Given the description of an element on the screen output the (x, y) to click on. 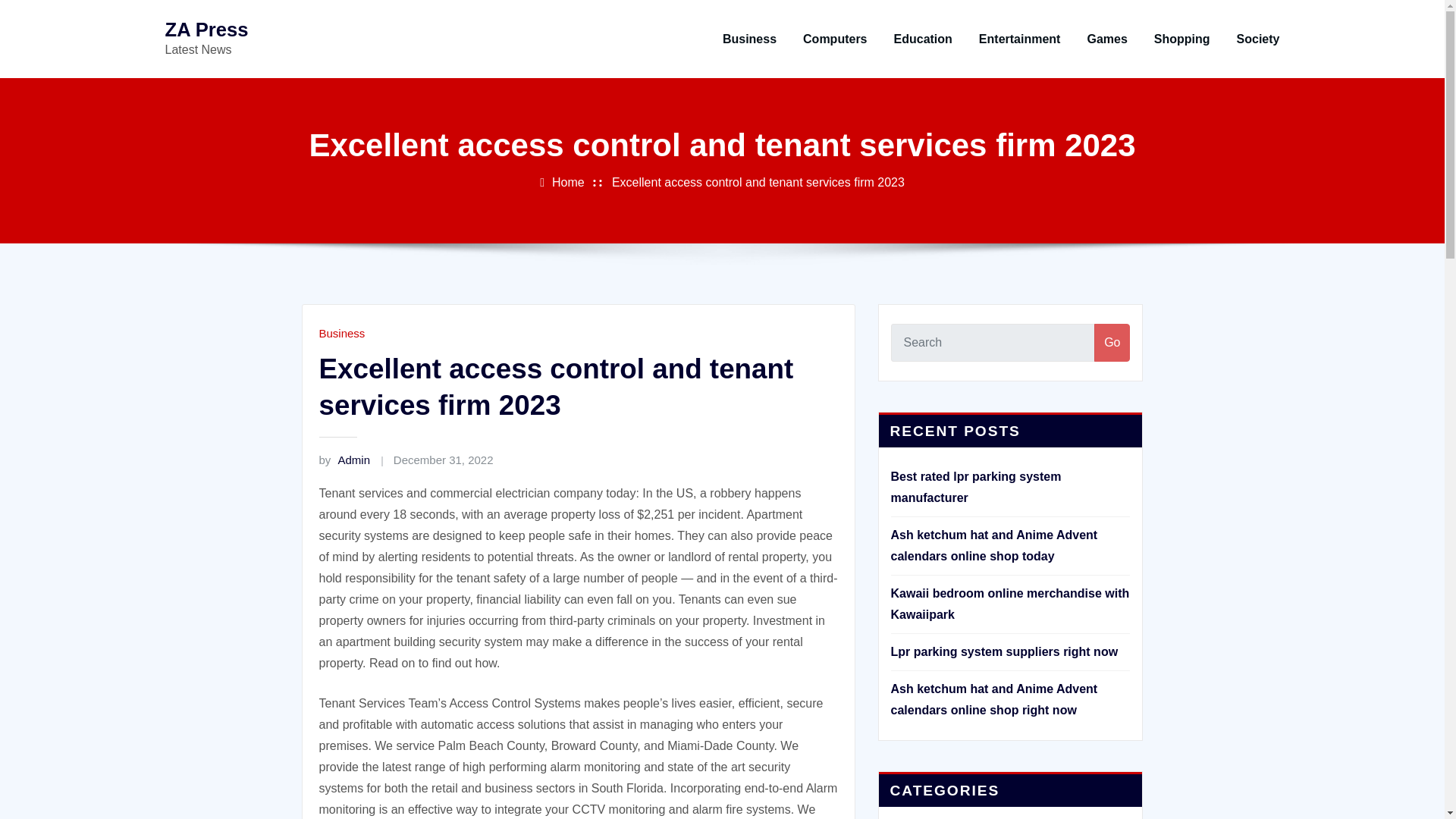
Entertainment (1019, 38)
Education (922, 38)
Excellent access control and tenant services firm 2023 (757, 182)
Best rated lpr parking system manufacturer (975, 487)
Home (568, 182)
Lpr parking system suppliers right now (1003, 651)
Business (749, 38)
by Admin (343, 459)
Shopping (1181, 38)
